Given the description of an element on the screen output the (x, y) to click on. 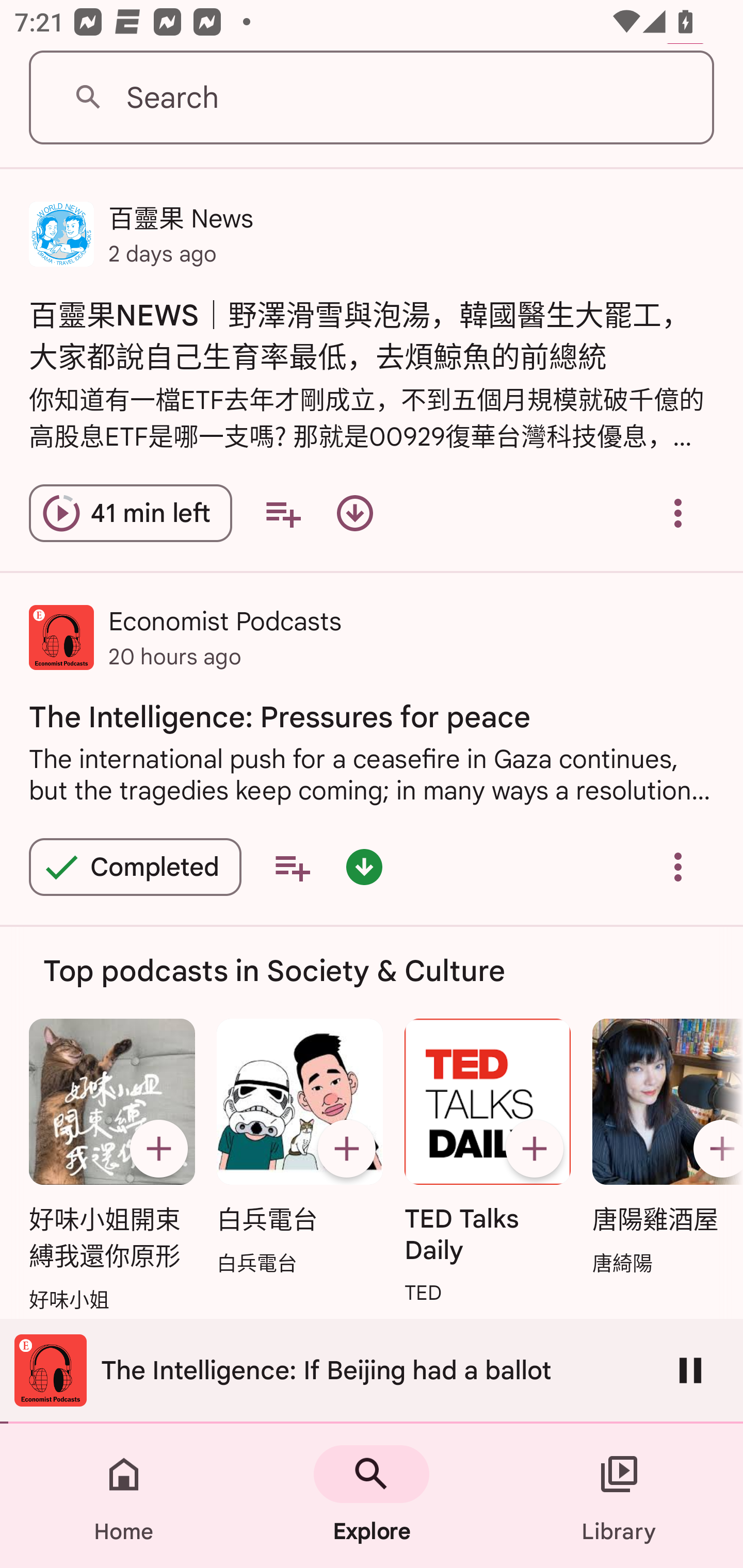
Search (371, 97)
Add to your queue (282, 513)
Download episode (354, 513)
Overflow menu (677, 513)
Add to your queue (291, 867)
Episode downloaded - double tap for options (364, 867)
Overflow menu (677, 867)
好味小姐開束縛我還你原形 Subscribe 好味小姐開束縛我還你原形 好味小姐 (111, 1166)
白兵電台 Subscribe 白兵電台 白兵電台 (299, 1148)
TED Talks Daily Subscribe TED Talks Daily TED (487, 1163)
唐陽雞酒屋 Subscribe 唐陽雞酒屋 唐綺陽 (662, 1148)
Subscribe (158, 1149)
Subscribe (346, 1149)
Subscribe (534, 1149)
Subscribe (714, 1149)
Pause (690, 1370)
Home (123, 1495)
Library (619, 1495)
